Given the description of an element on the screen output the (x, y) to click on. 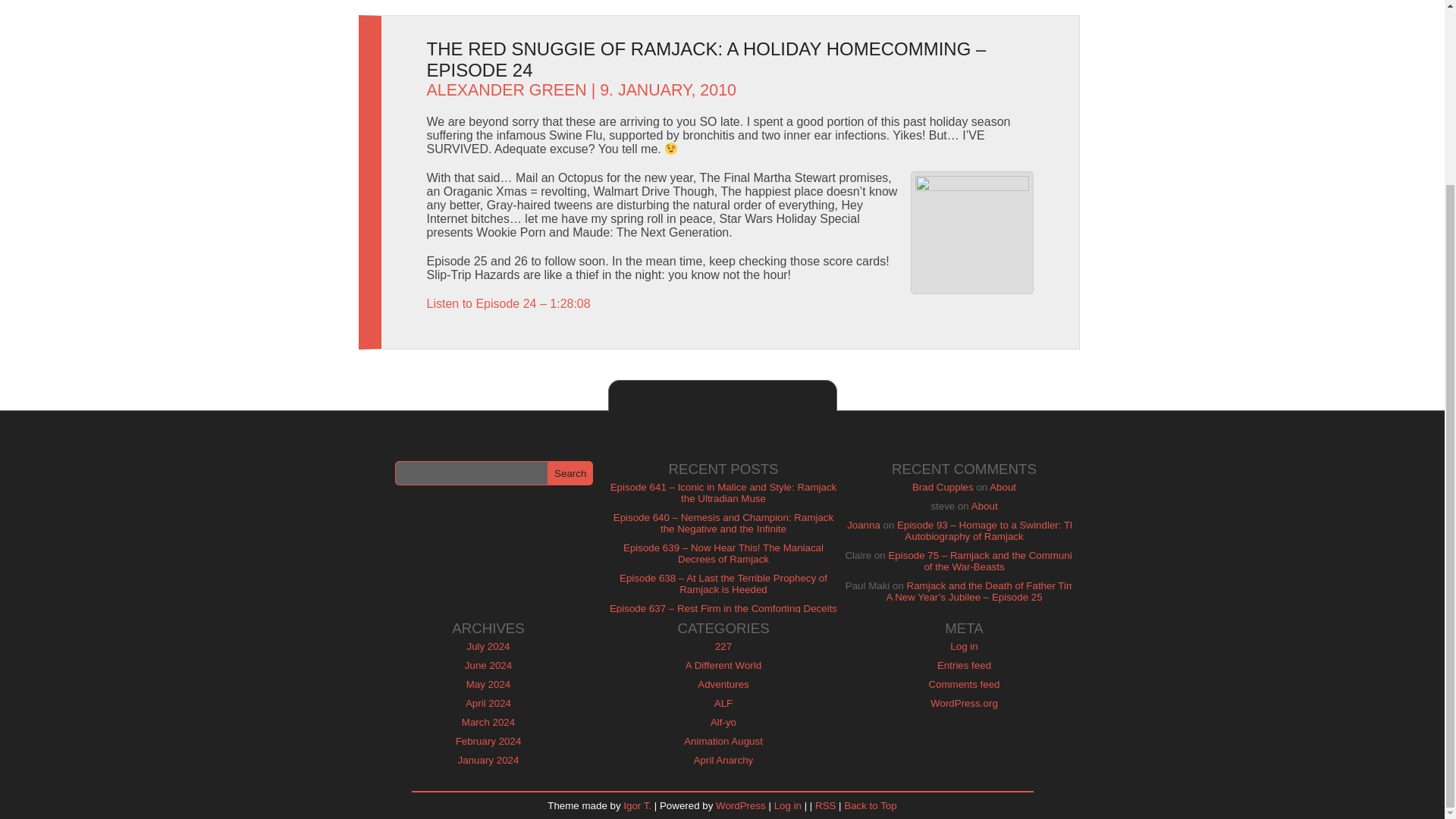
April 2024 (488, 703)
About (984, 505)
Posts by Alexander Green (506, 90)
About (1003, 487)
Cover Art (971, 232)
May 2024 (488, 684)
Brad Cupples (943, 487)
February 2024 (488, 740)
June 2024 (488, 665)
January 2024 (488, 759)
Joanna (863, 524)
Search (569, 473)
March 2024 (488, 722)
